Given the description of an element on the screen output the (x, y) to click on. 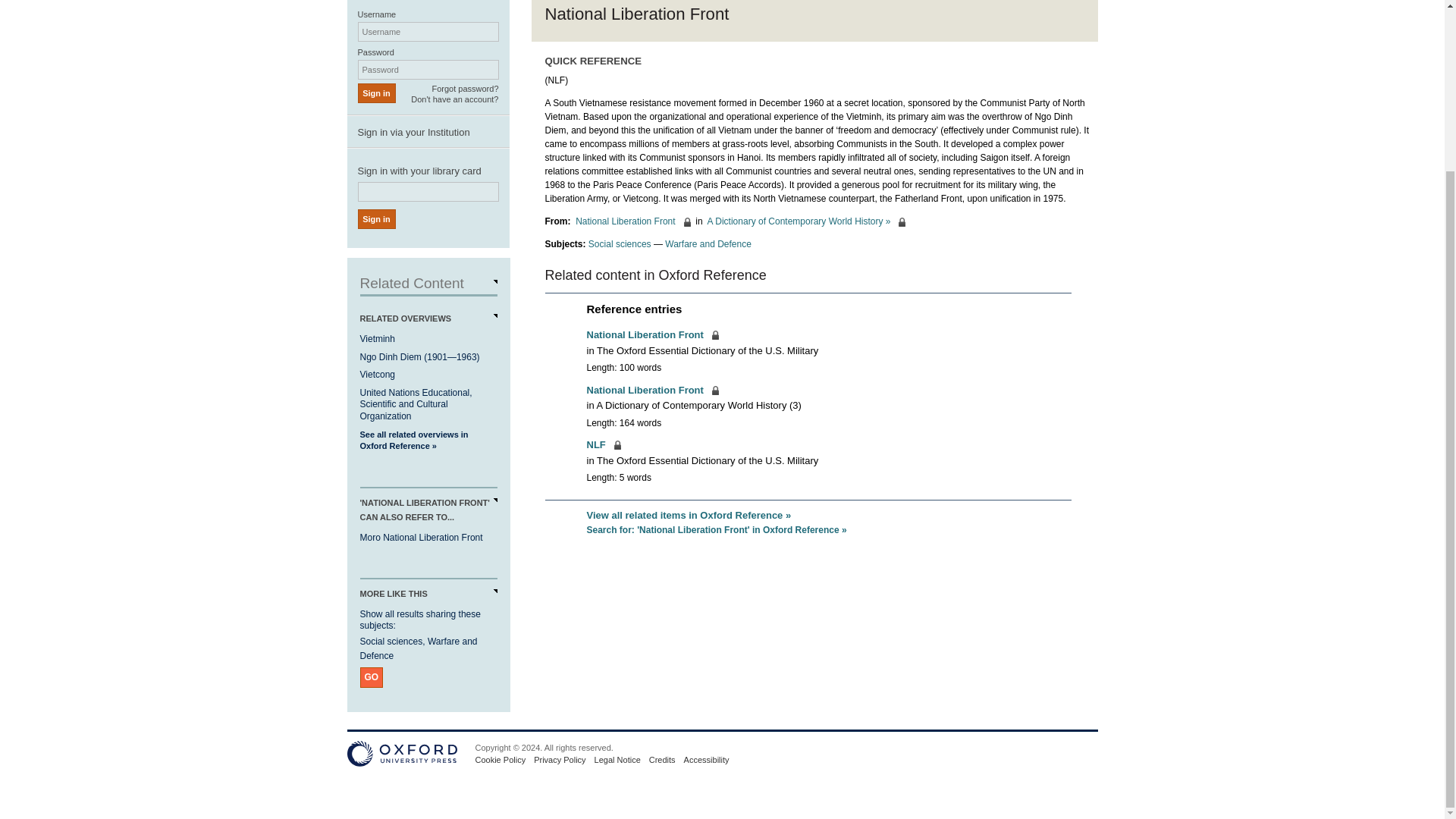
locked (652, 389)
Forgot password? (463, 88)
locked (806, 221)
locked (632, 221)
locked (603, 444)
Sign in (377, 93)
locked (652, 334)
Sign in (377, 219)
